Given the description of an element on the screen output the (x, y) to click on. 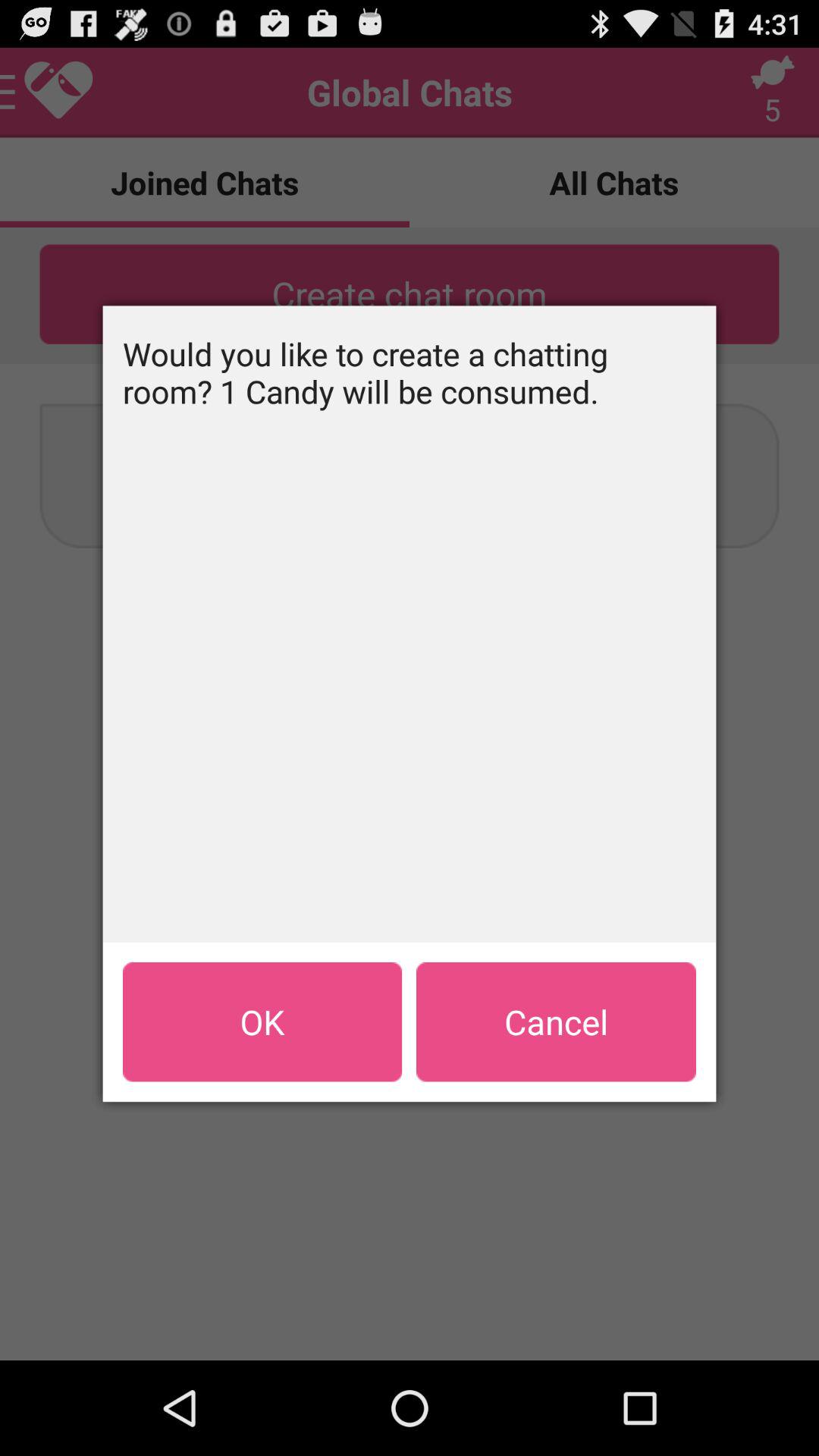
tap app below would you like icon (556, 1021)
